Given the description of an element on the screen output the (x, y) to click on. 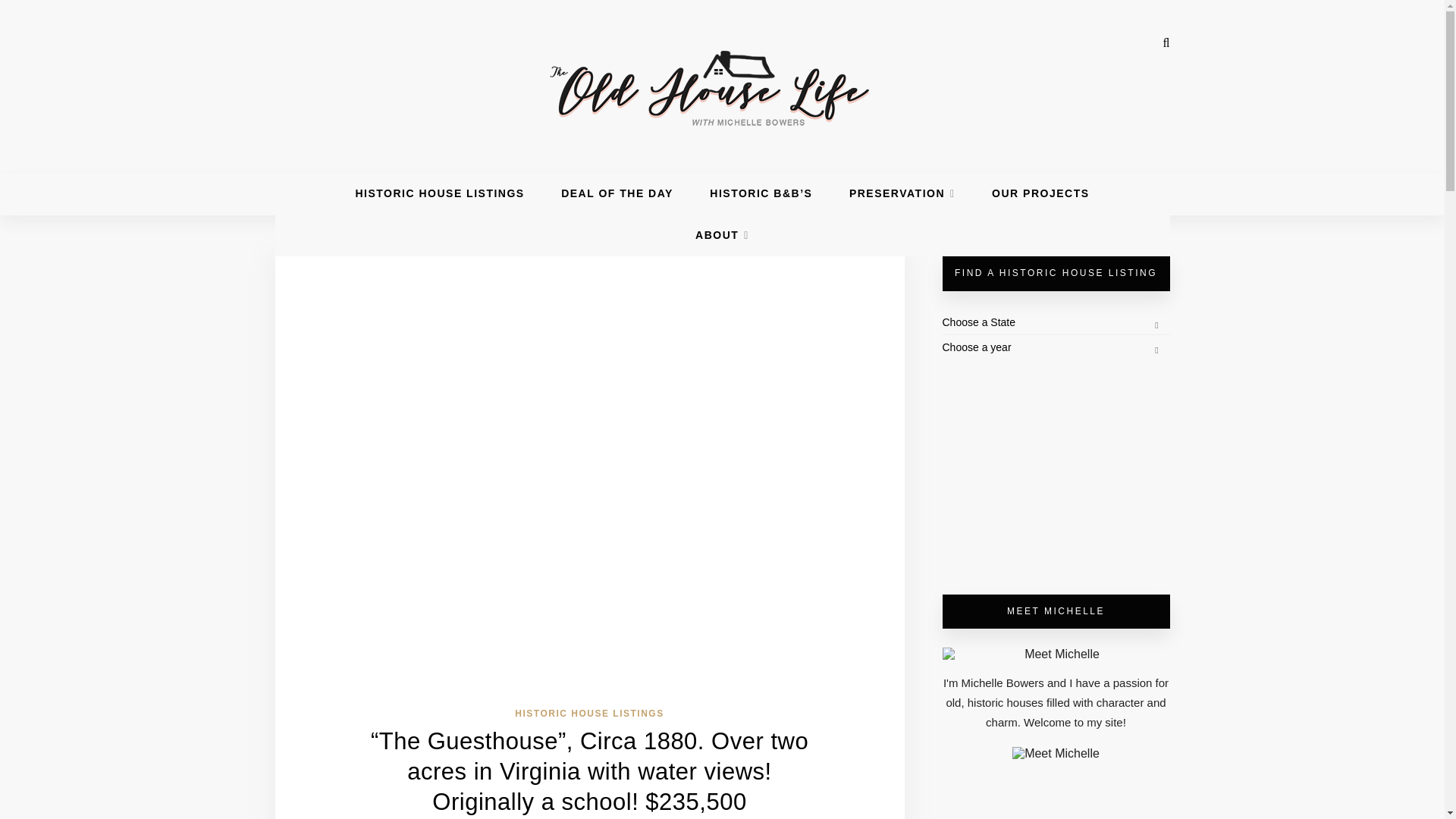
HISTORIC HOUSE LISTINGS (589, 713)
DEAL OF THE DAY (616, 192)
OUR PROJECTS (1040, 192)
ABOUT (722, 235)
PRESERVATION (901, 193)
HISTORIC HOUSE LISTINGS (439, 192)
